Given the description of an element on the screen output the (x, y) to click on. 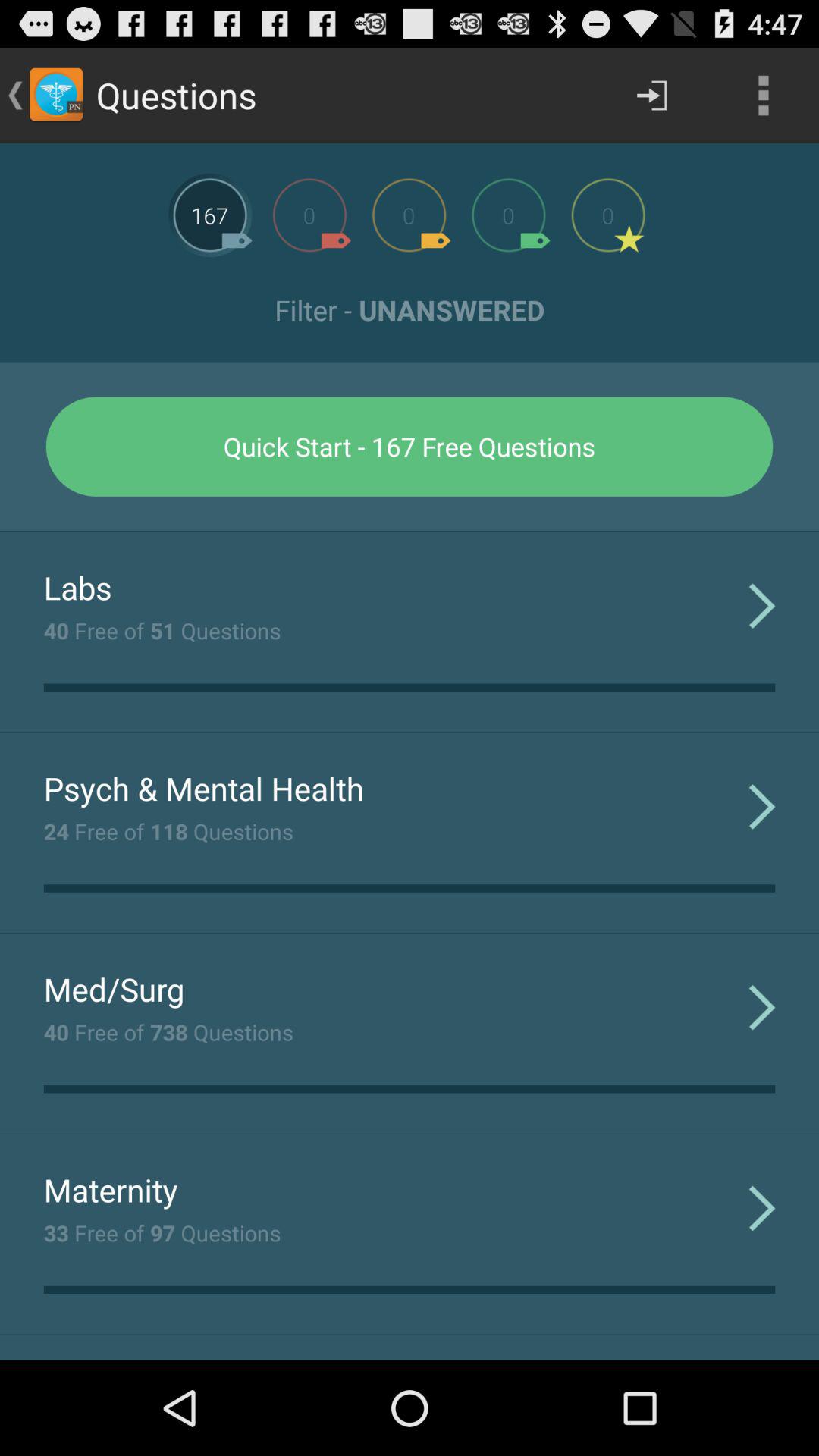
open labs icon (77, 587)
